Given the description of an element on the screen output the (x, y) to click on. 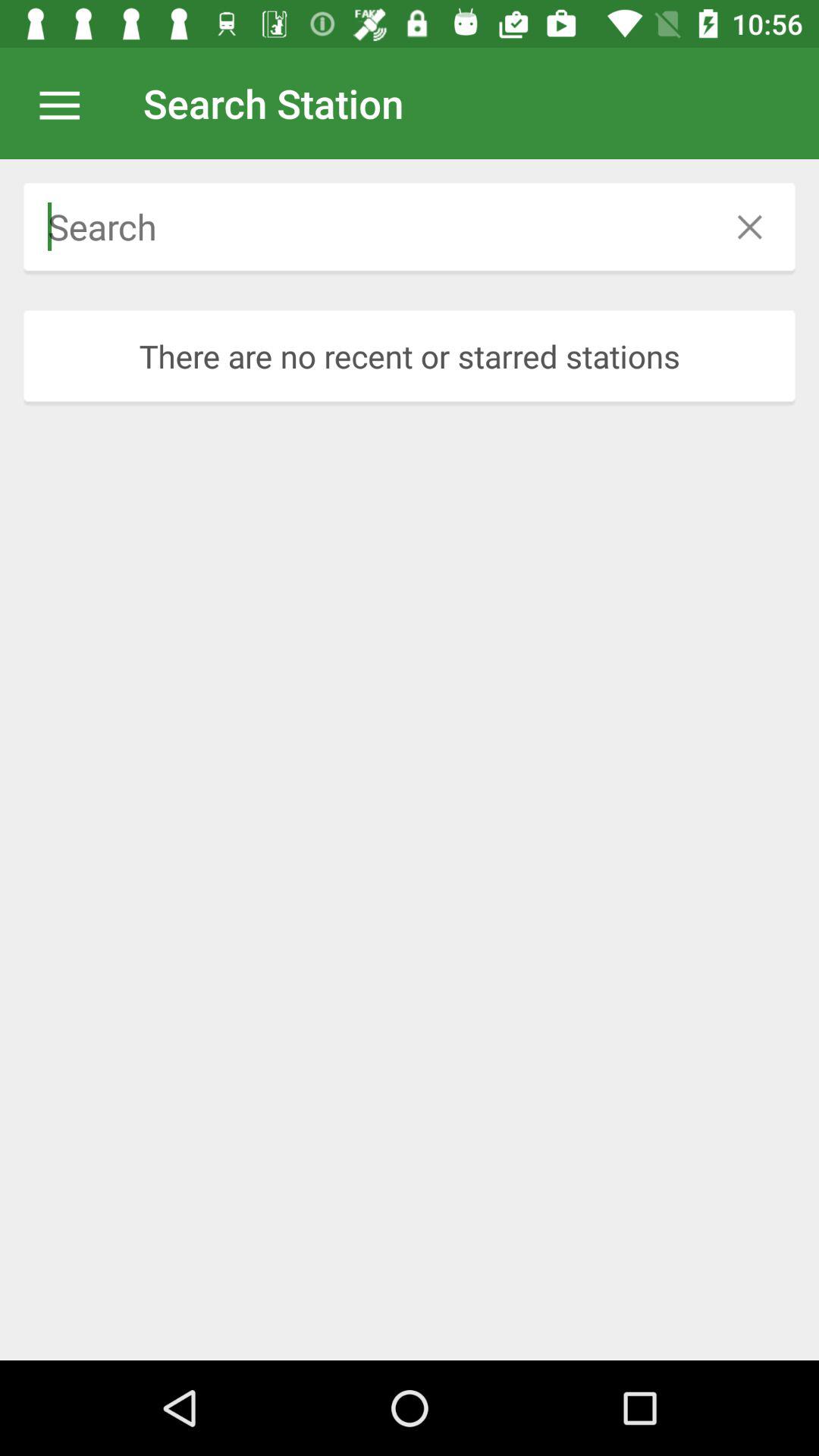
enter what to search (363, 226)
